Given the description of an element on the screen output the (x, y) to click on. 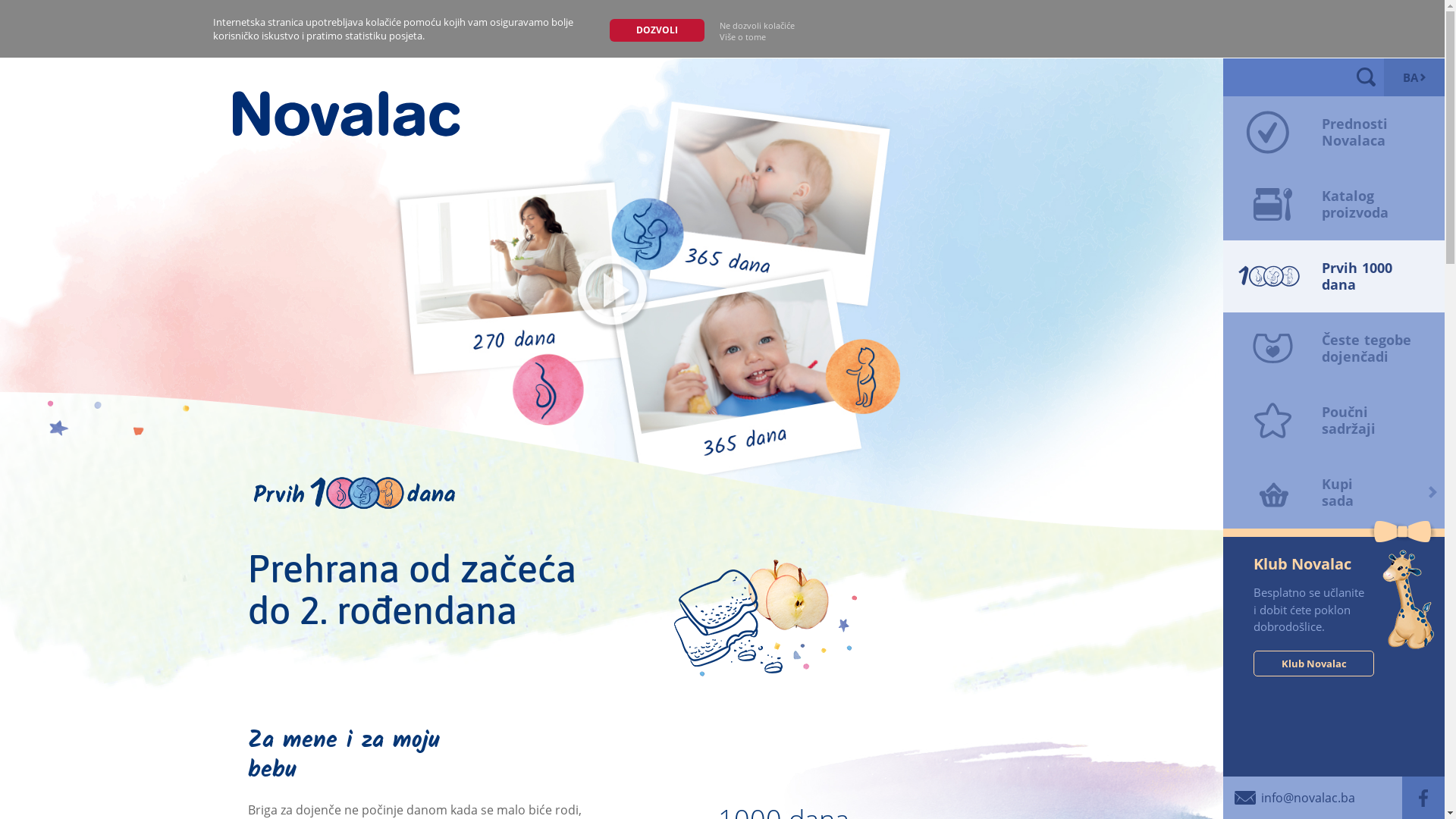
Katalog proizvoda Element type: text (1333, 204)
Prvih 1000 dana Element type: text (1333, 275)
DOZVOLI Element type: text (656, 29)
Kupi sada Element type: text (1333, 492)
Klub Novalac Element type: text (1313, 663)
Domov Element type: hover (345, 112)
Prednosti Novalaca Element type: text (1333, 131)
info@novalac.ba Element type: text (1289, 797)
Klub Novalac Element type: text (1333, 564)
